Given the description of an element on the screen output the (x, y) to click on. 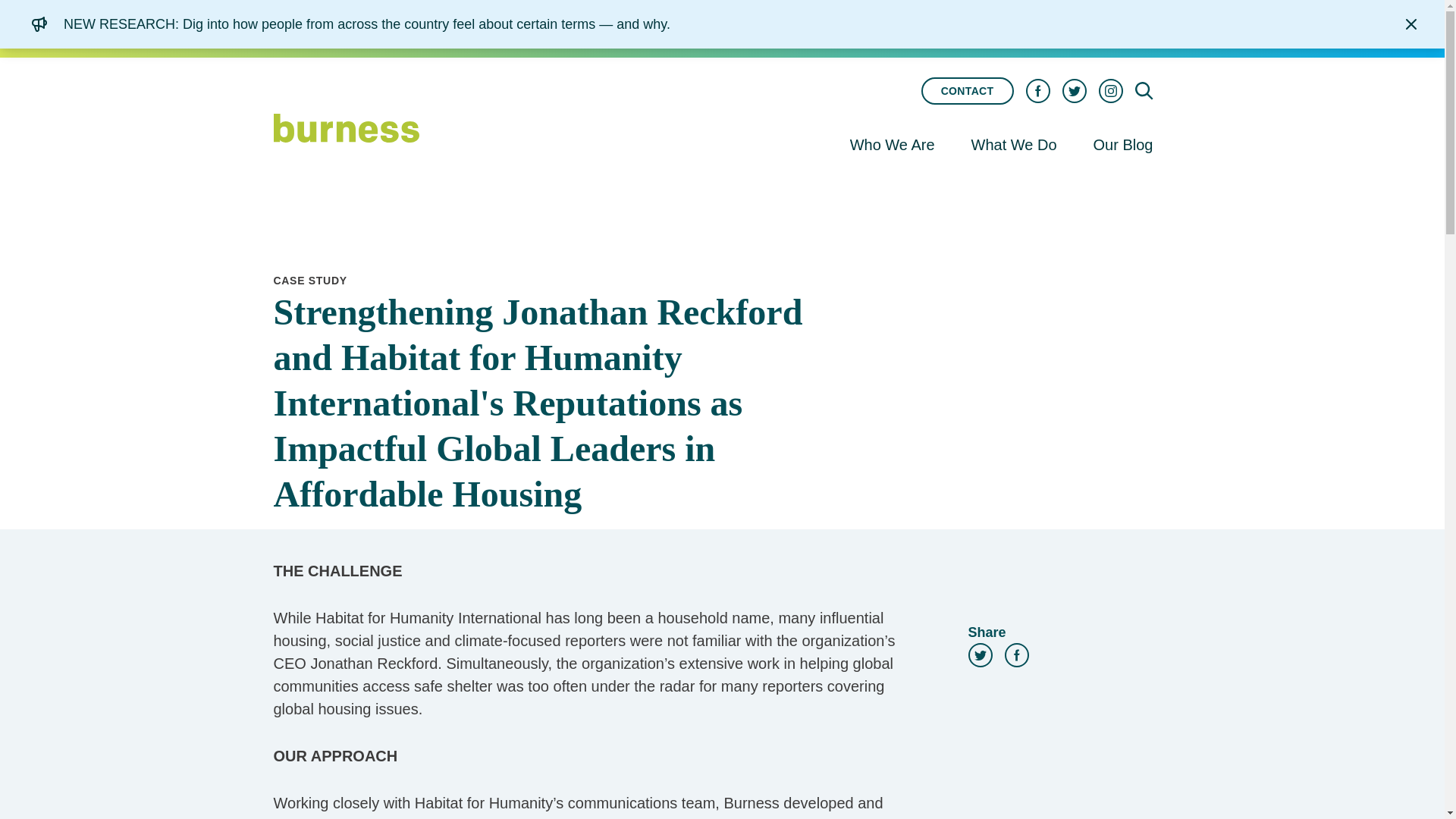
Our Blog (1123, 145)
What We Do (1013, 150)
CONTACT (967, 90)
Who We Are (892, 150)
